Given the description of an element on the screen output the (x, y) to click on. 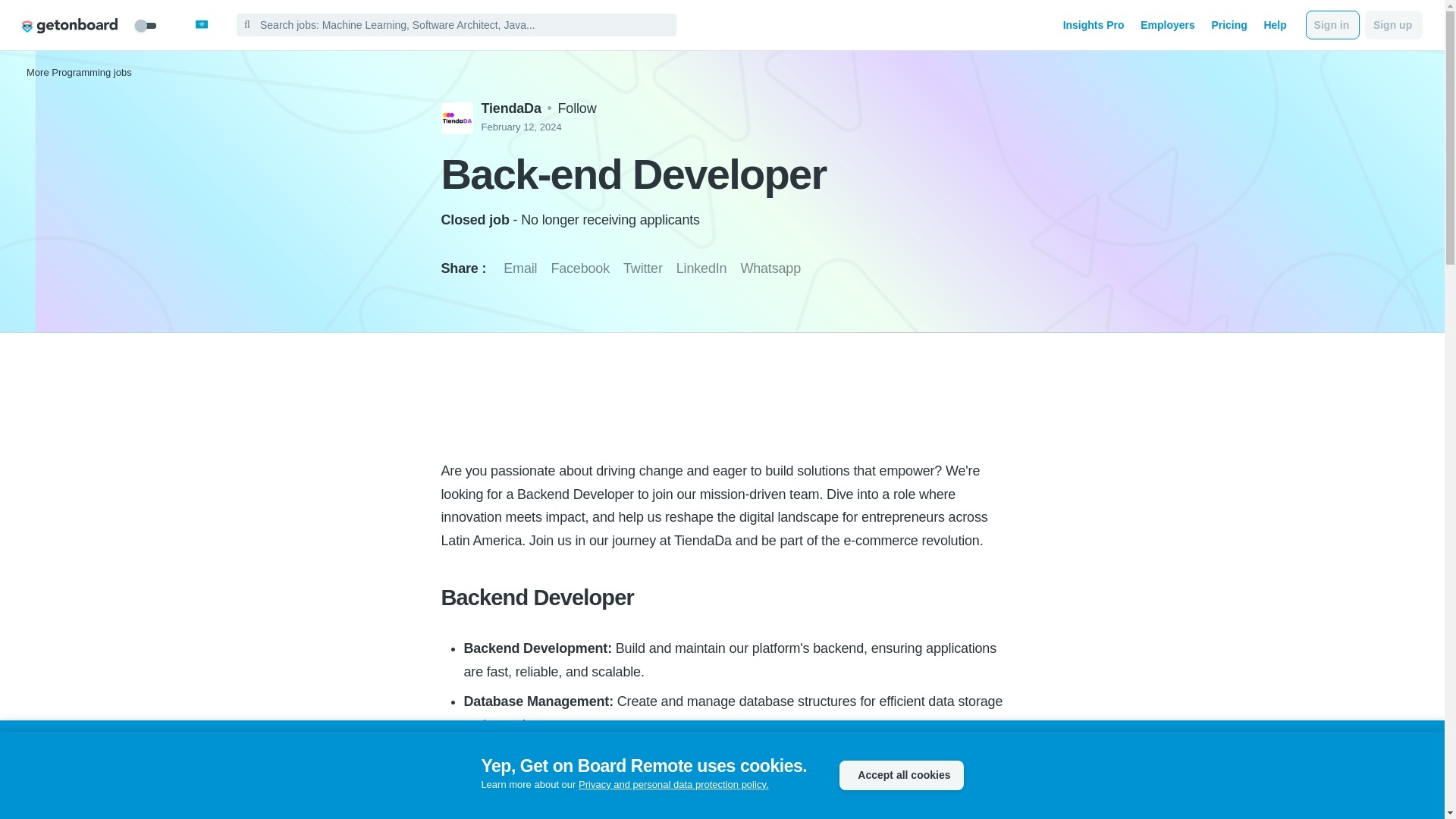
Follow (576, 108)
Sign in (1332, 24)
Privacy and personal data protection policy. (673, 784)
Employers (1167, 24)
Twitter (642, 268)
Facebook (580, 268)
Pricing (1228, 24)
TiendaDa (512, 108)
More Programming jobs (79, 71)
Email (520, 268)
Insights Pro (1093, 24)
Sign up (1393, 24)
Help (1274, 24)
LinkedIn (701, 268)
Whatsapp (769, 268)
